Given the description of an element on the screen output the (x, y) to click on. 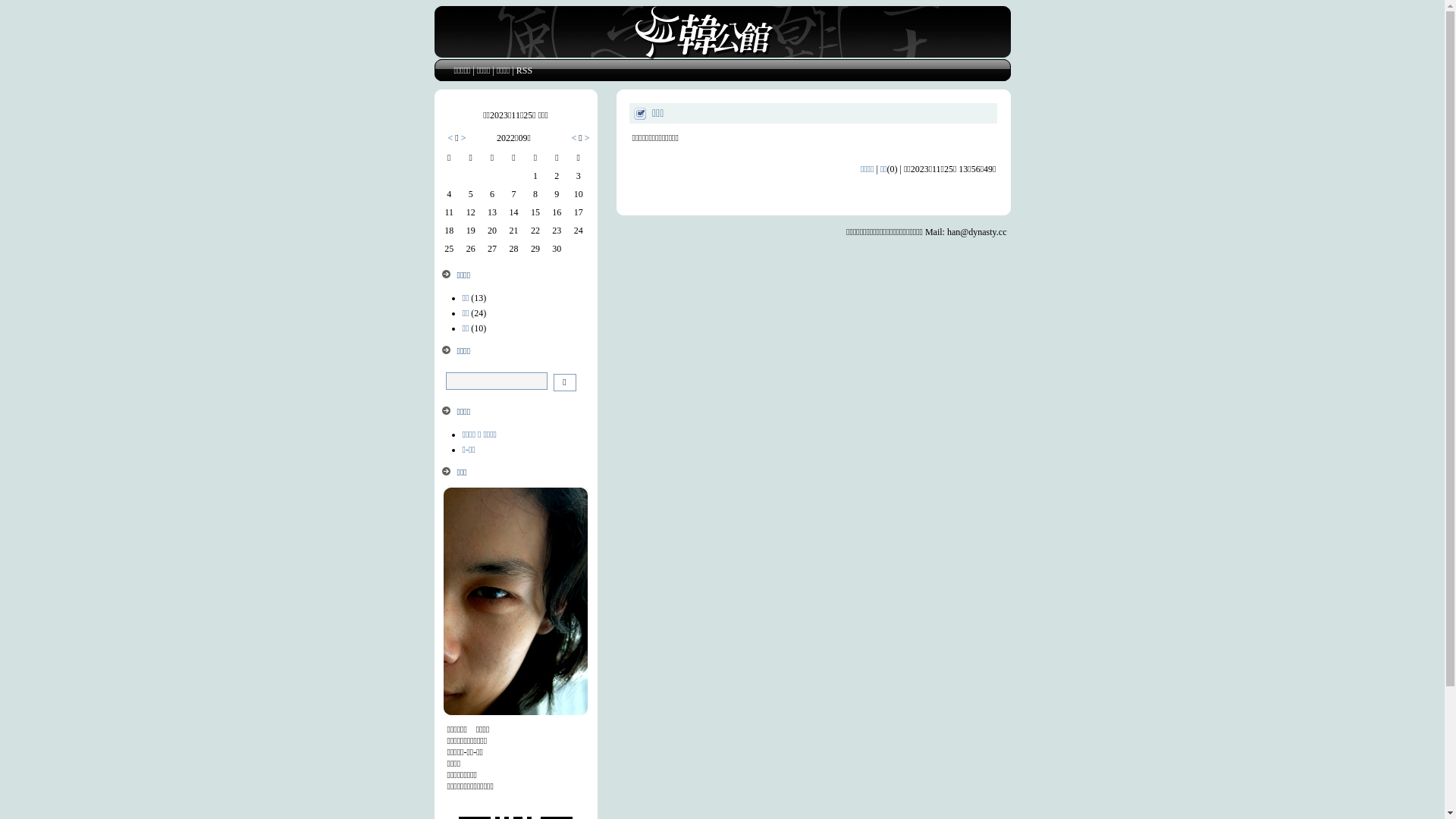
< Element type: text (450, 137)
> Element type: text (462, 137)
RSS Element type: text (524, 70)
< Element type: text (574, 137)
> Element type: text (585, 137)
